Given the description of an element on the screen output the (x, y) to click on. 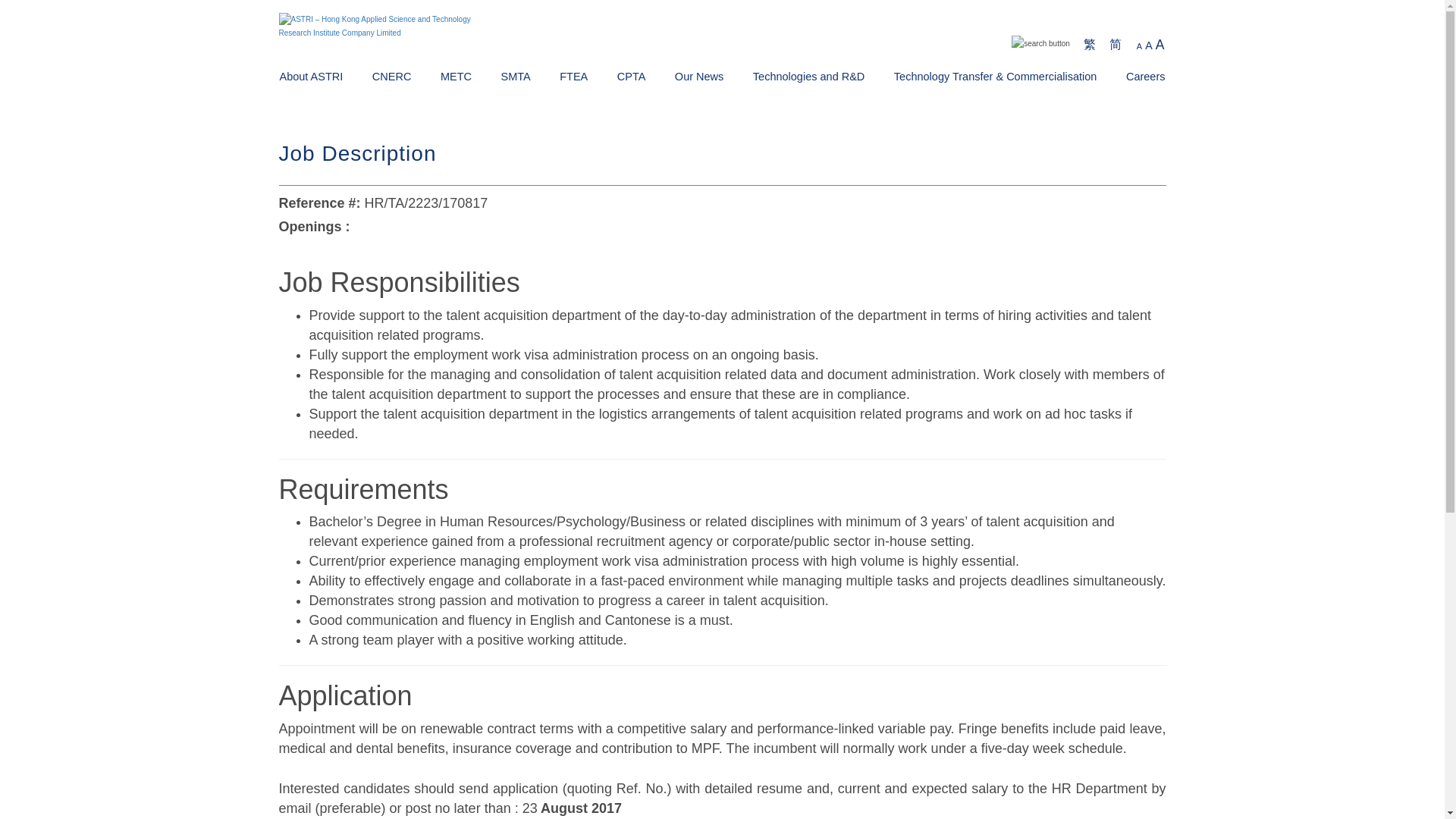
Our News (699, 76)
CNERC (392, 76)
METC (456, 76)
FTEA (573, 76)
Search (1348, 45)
About ASTRI (310, 76)
A (1138, 45)
SMTA (514, 76)
CPTA (631, 76)
